Given the description of an element on the screen output the (x, y) to click on. 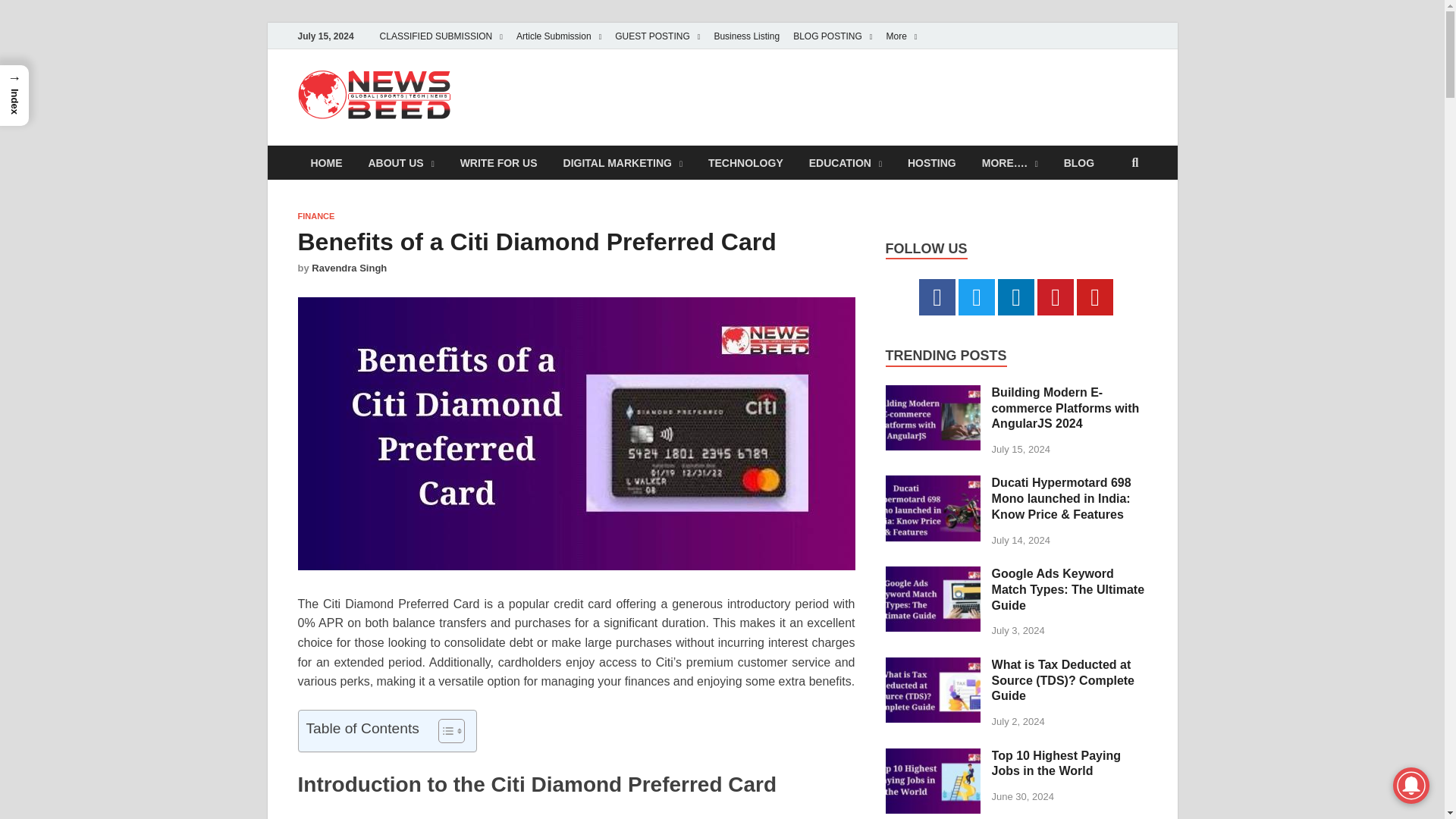
CLASSIFIED SUBMISSION (440, 35)
GUEST POSTING (657, 35)
Article Submission (558, 35)
